Given the description of an element on the screen output the (x, y) to click on. 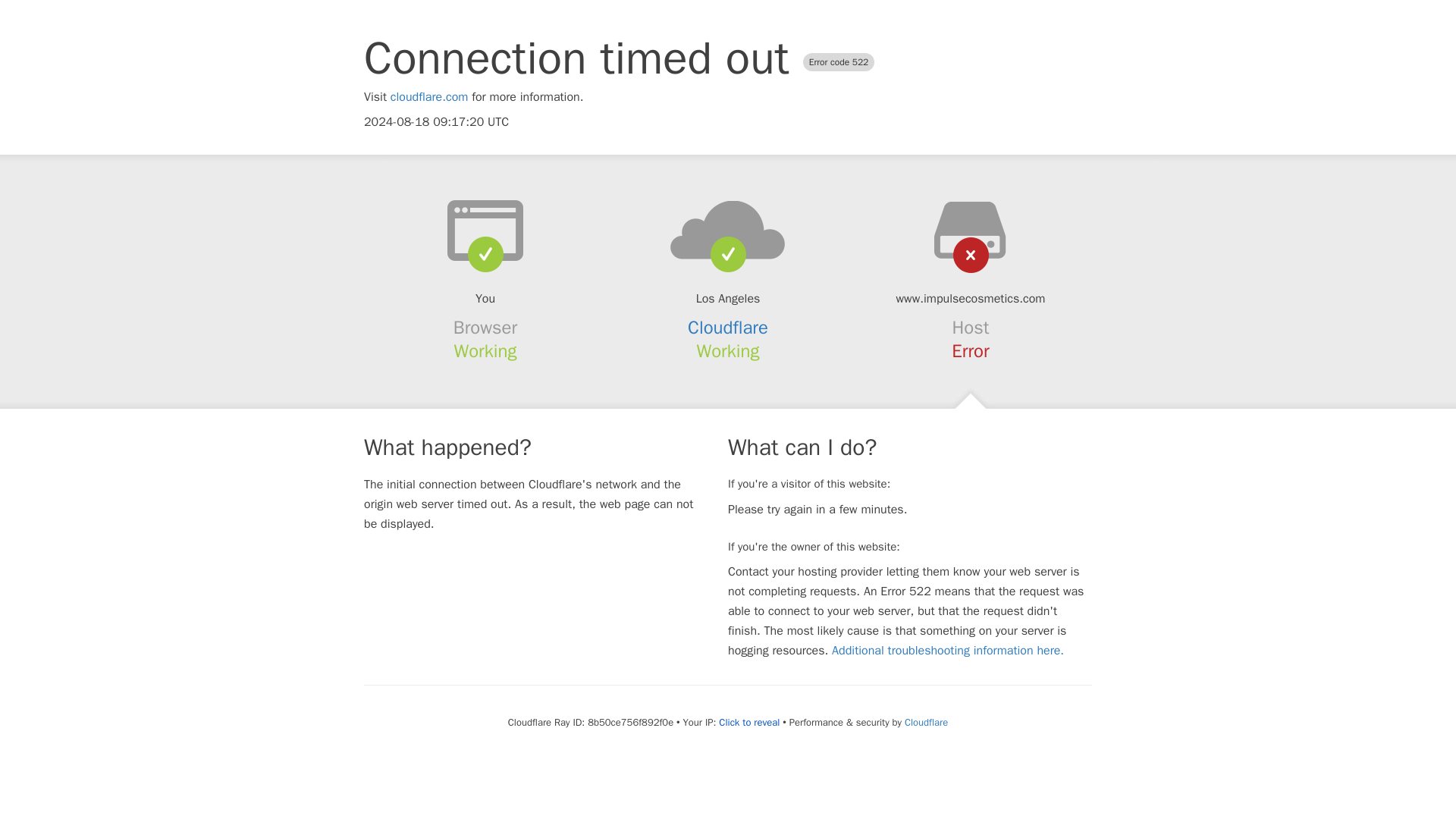
cloudflare.com (429, 96)
Click to reveal (748, 722)
Additional troubleshooting information here. (947, 650)
Cloudflare (727, 327)
Cloudflare (925, 721)
